Given the description of an element on the screen output the (x, y) to click on. 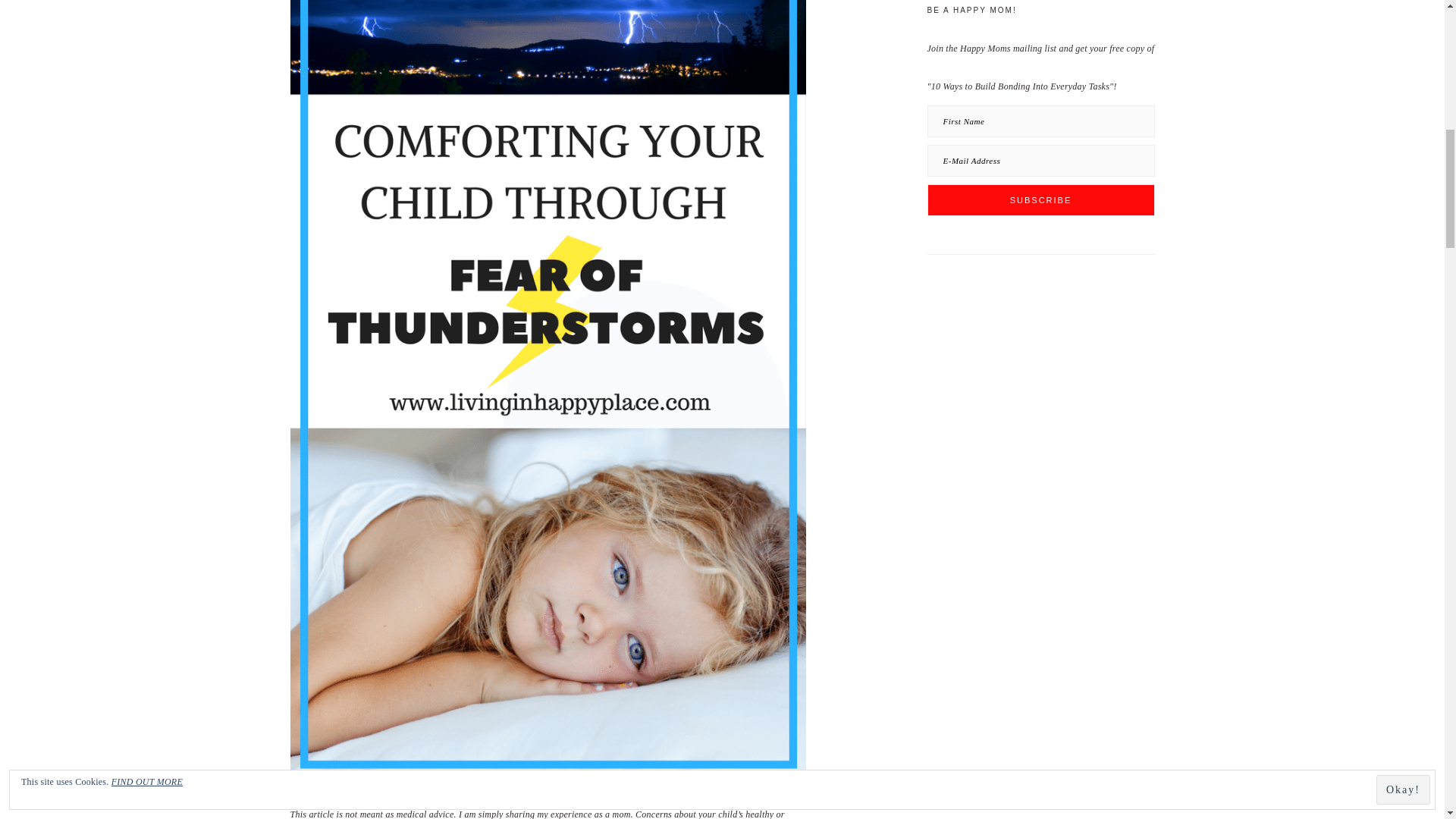
Subscribe (1040, 200)
